Given the description of an element on the screen output the (x, y) to click on. 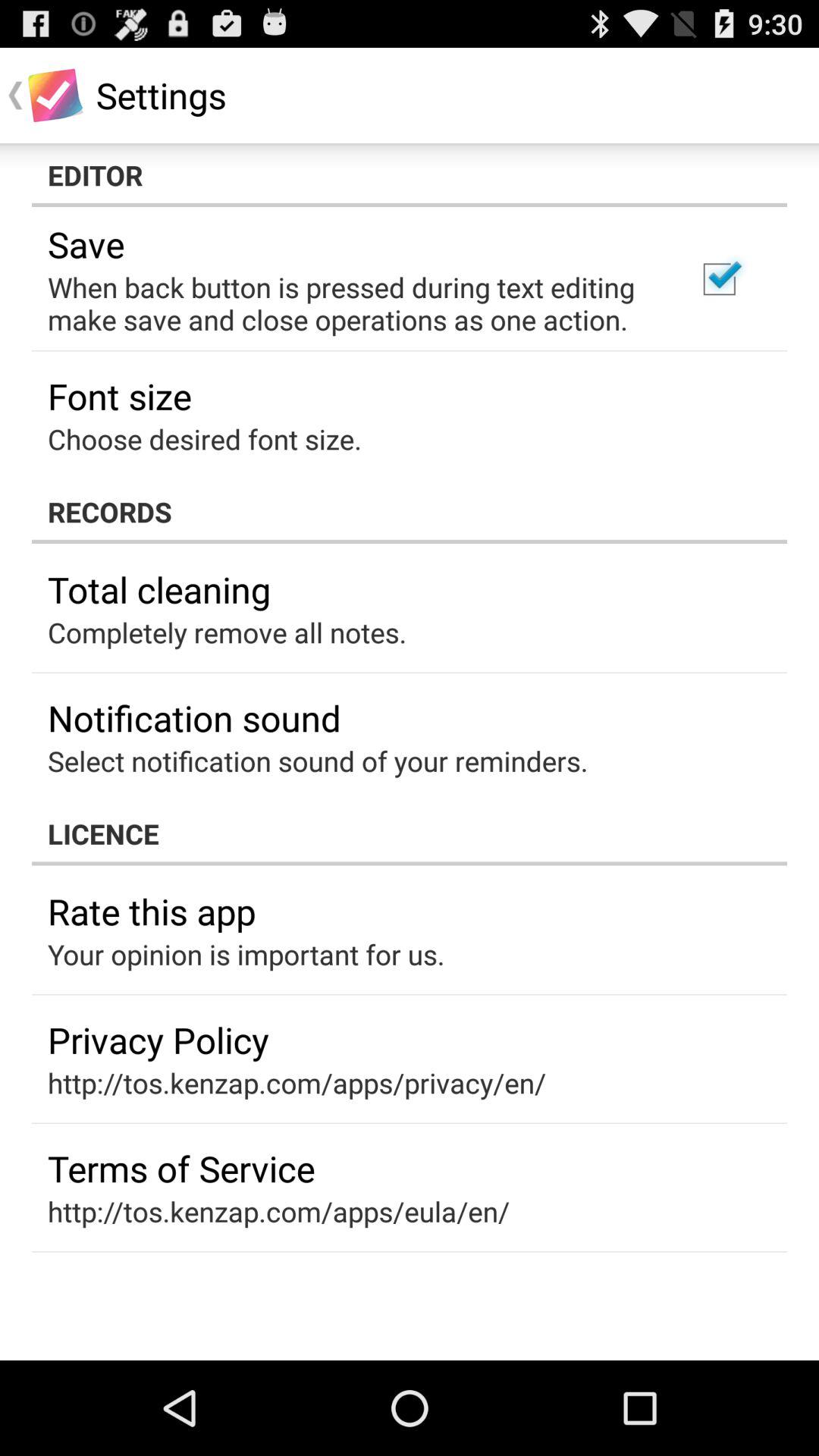
click the icon below http tos kenzap icon (181, 1168)
